Given the description of an element on the screen output the (x, y) to click on. 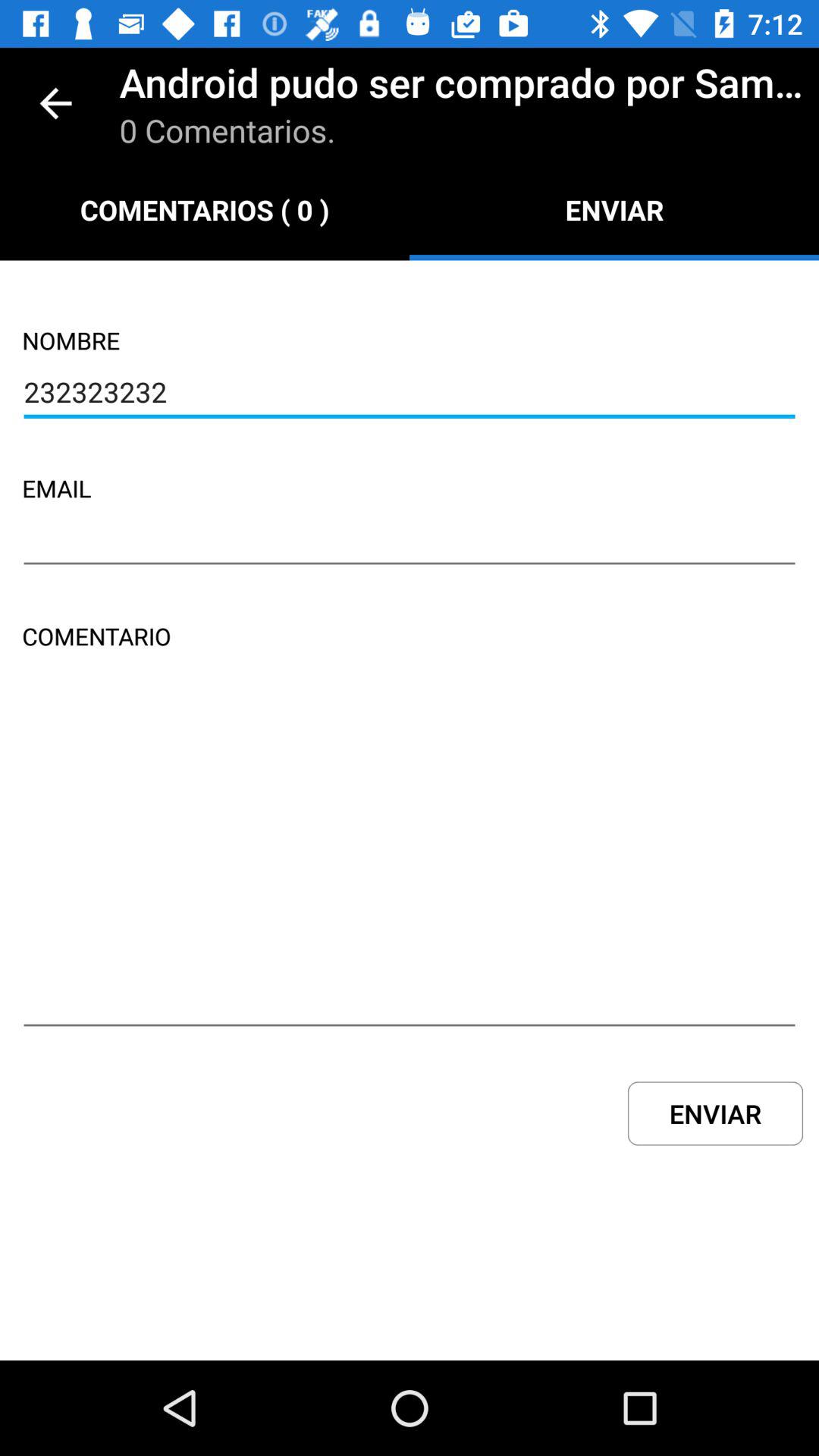
click the icon below nombre icon (409, 394)
